Given the description of an element on the screen output the (x, y) to click on. 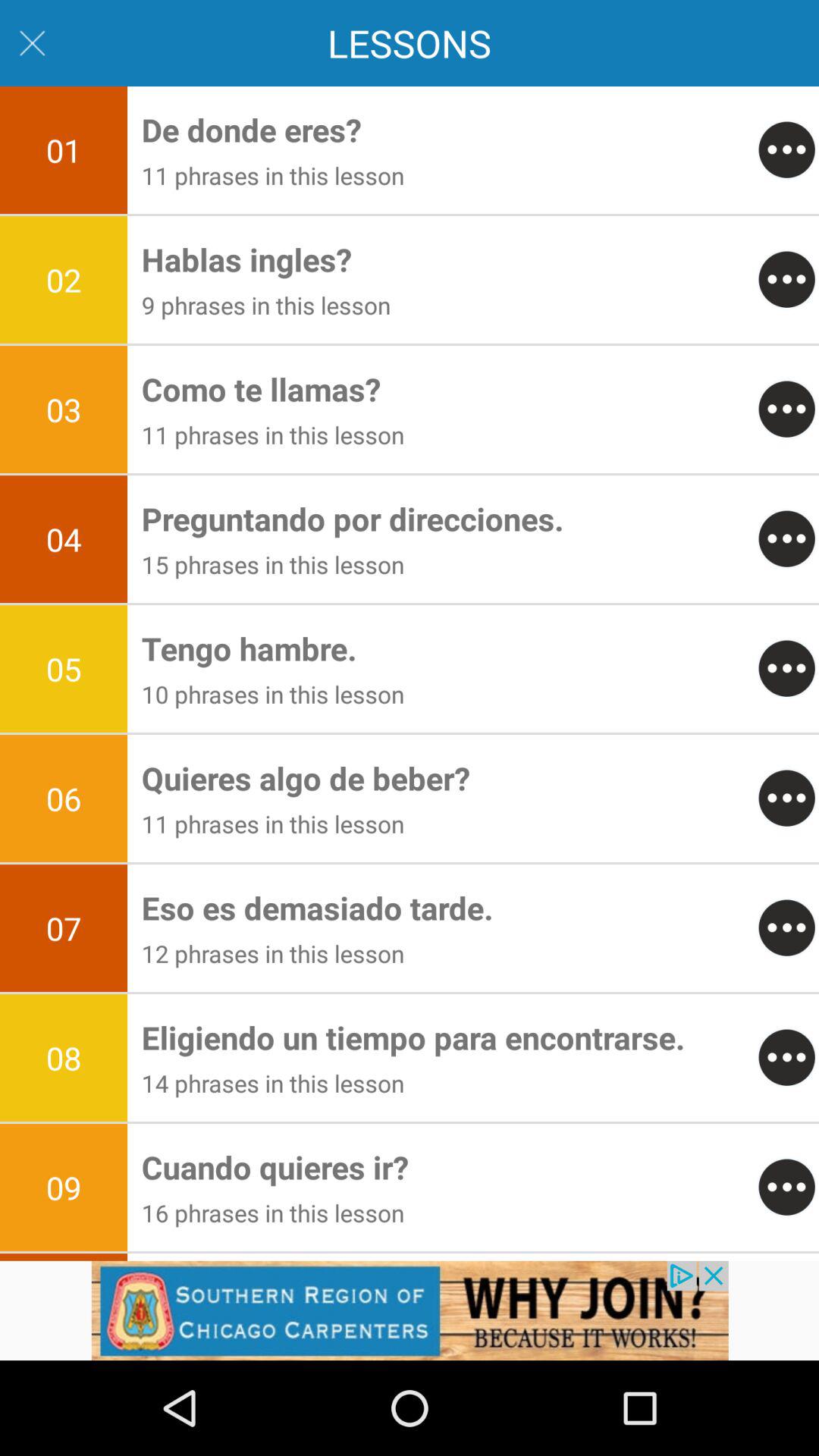
advertisement (409, 1310)
